Given the description of an element on the screen output the (x, y) to click on. 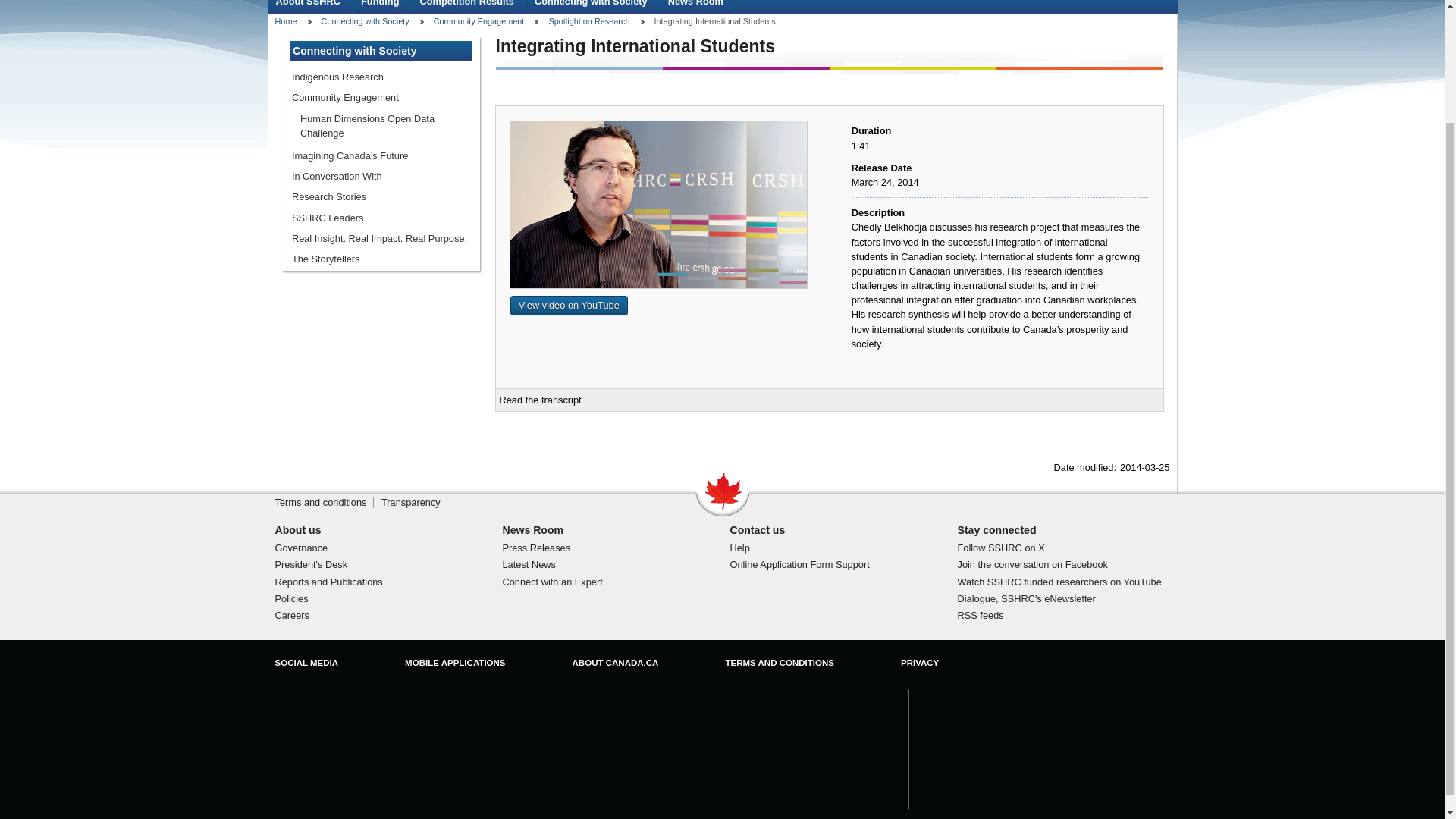
SSHRC Leaders (381, 218)
In Conversation With (381, 176)
Funding (381, 6)
About SSHRC (309, 6)
Real Insight. Real Impact. Real Purpose. (381, 238)
Human Dimensions Open Data Challenge (384, 125)
Community Engagement (381, 96)
The Storytellers (381, 258)
Research Stories (381, 196)
Indigenous Research (381, 76)
